Given the description of an element on the screen output the (x, y) to click on. 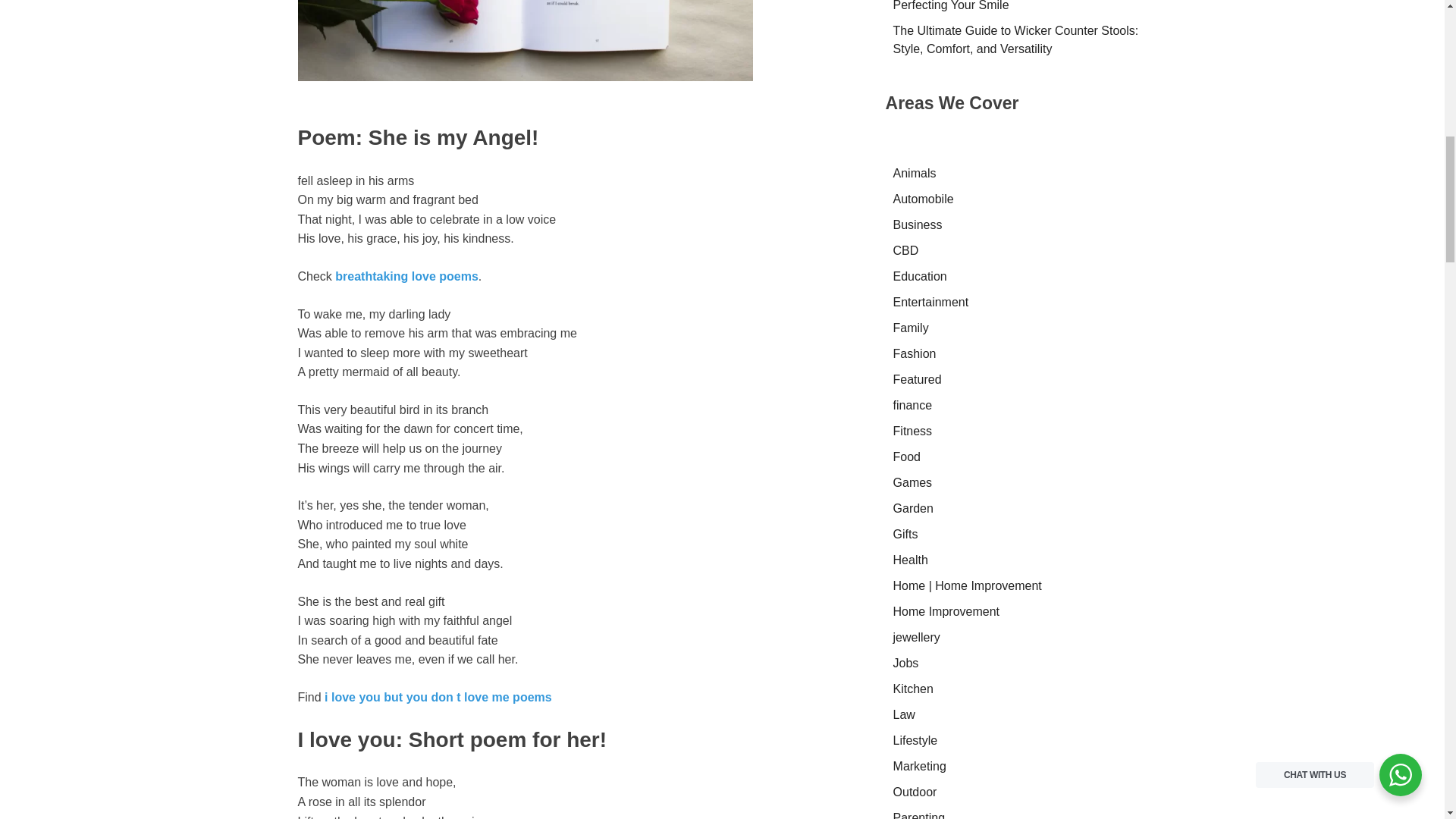
breathtaking love poems (406, 276)
i love you but you don t love me poems (437, 697)
